Given the description of an element on the screen output the (x, y) to click on. 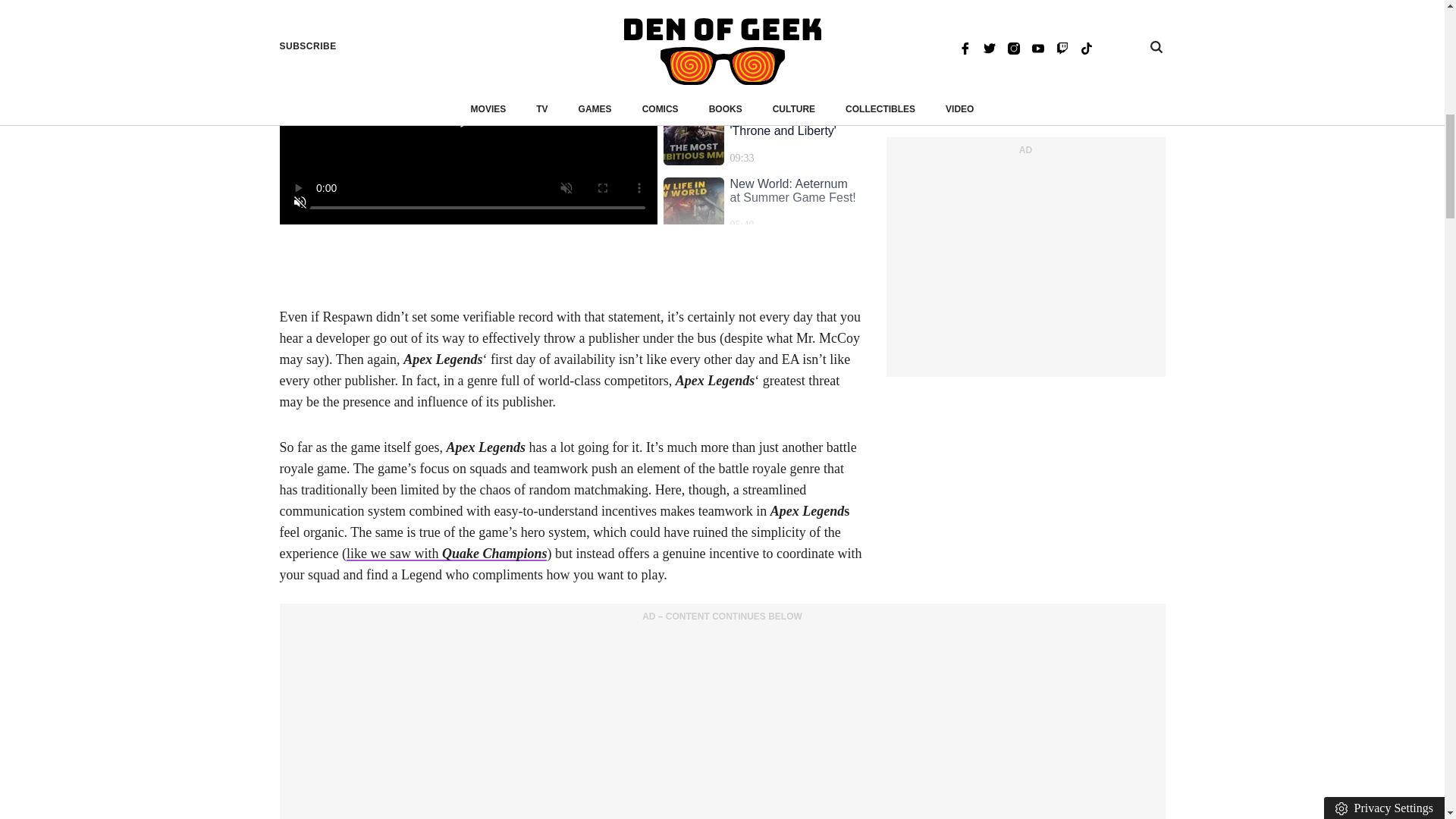
like we saw with Quake Champions (446, 553)
Quake Champions Now Free-to-Play (446, 553)
50 (467, 228)
